Given the description of an element on the screen output the (x, y) to click on. 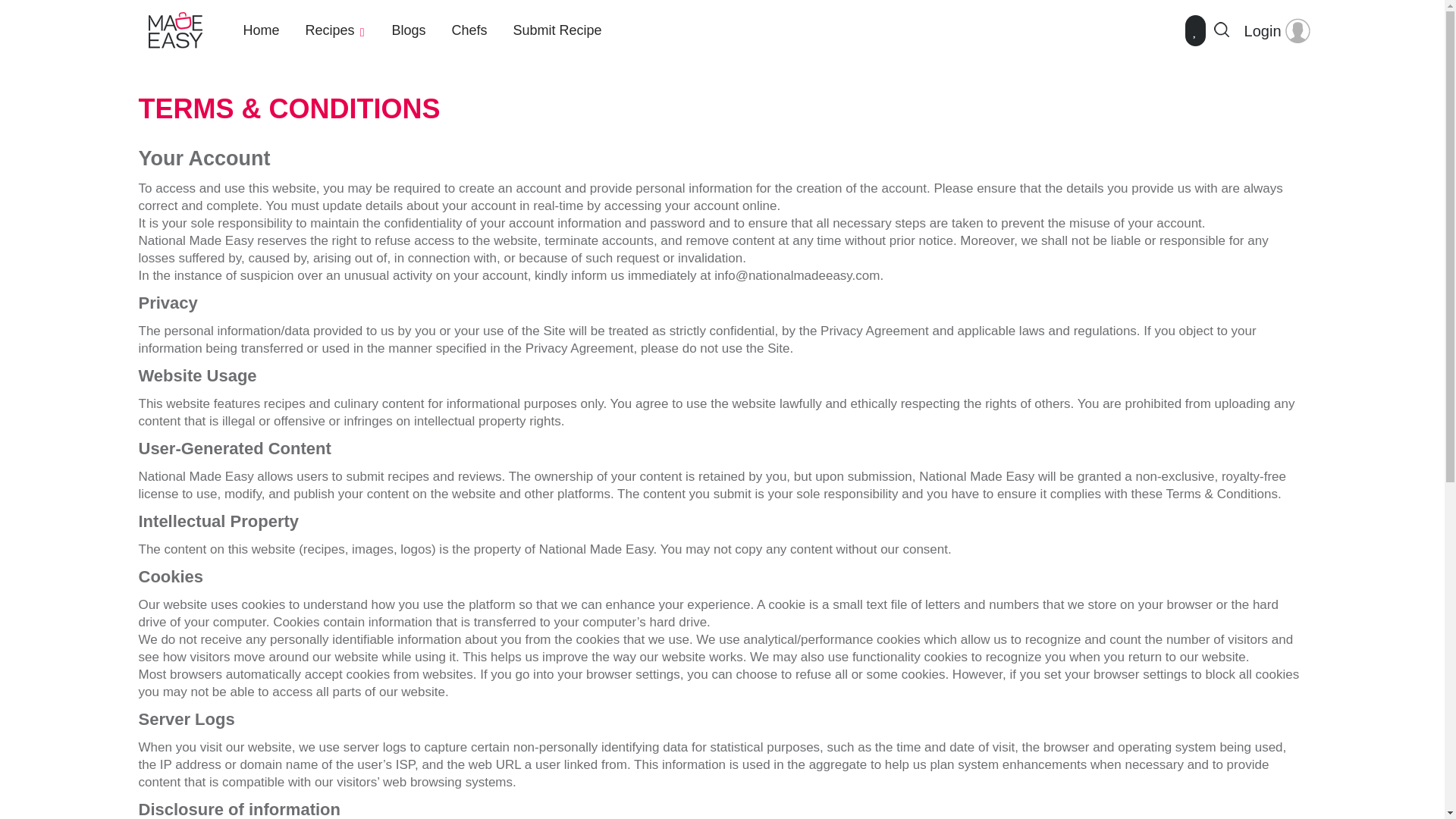
Recipes (336, 30)
Login (1277, 30)
Chefs (469, 30)
Submit Recipe (557, 30)
Home (260, 30)
Blogs (407, 30)
